Given the description of an element on the screen output the (x, y) to click on. 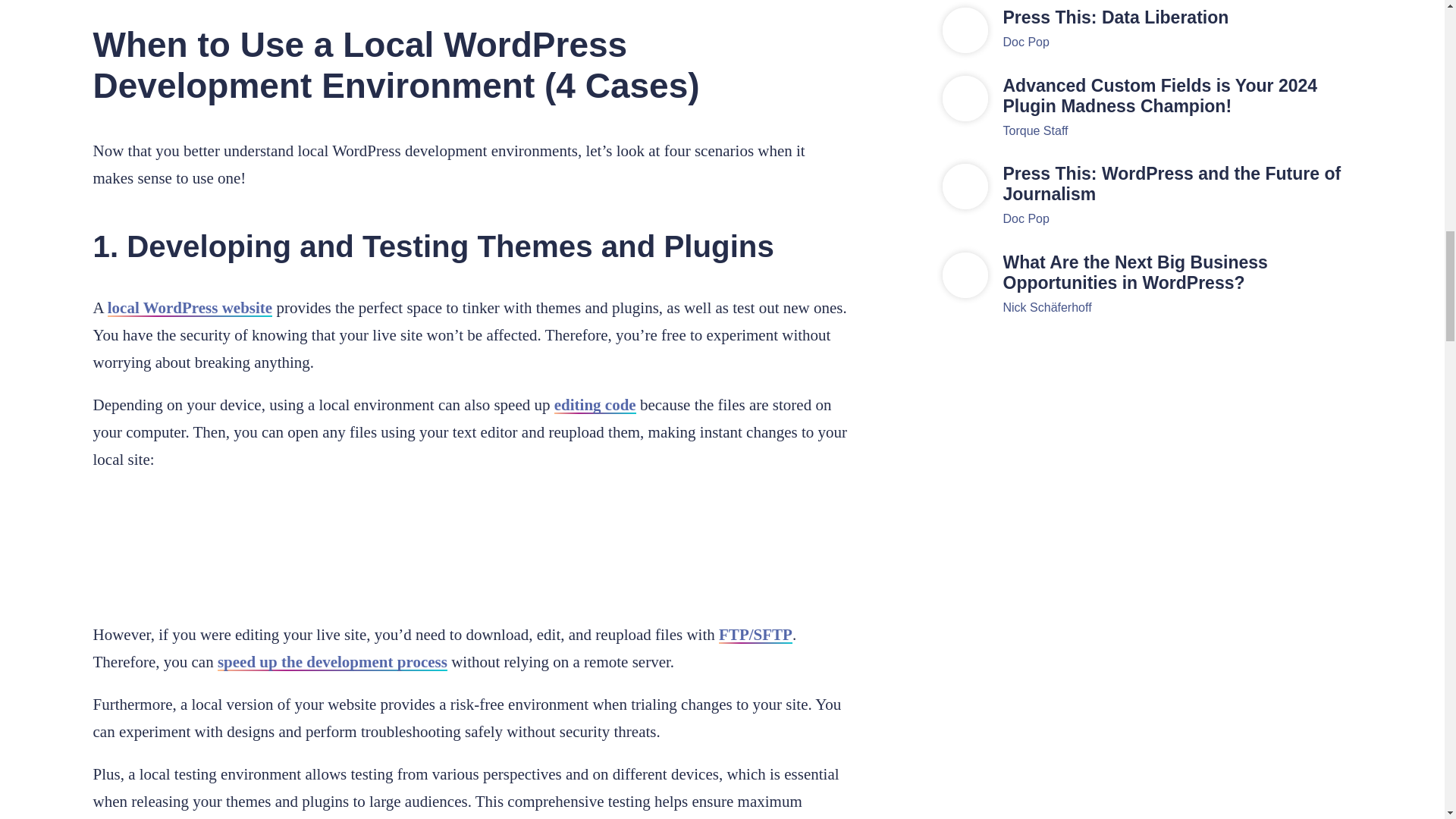
local WordPress website (189, 307)
speed up the development process (331, 661)
editing code (595, 404)
